Given the description of an element on the screen output the (x, y) to click on. 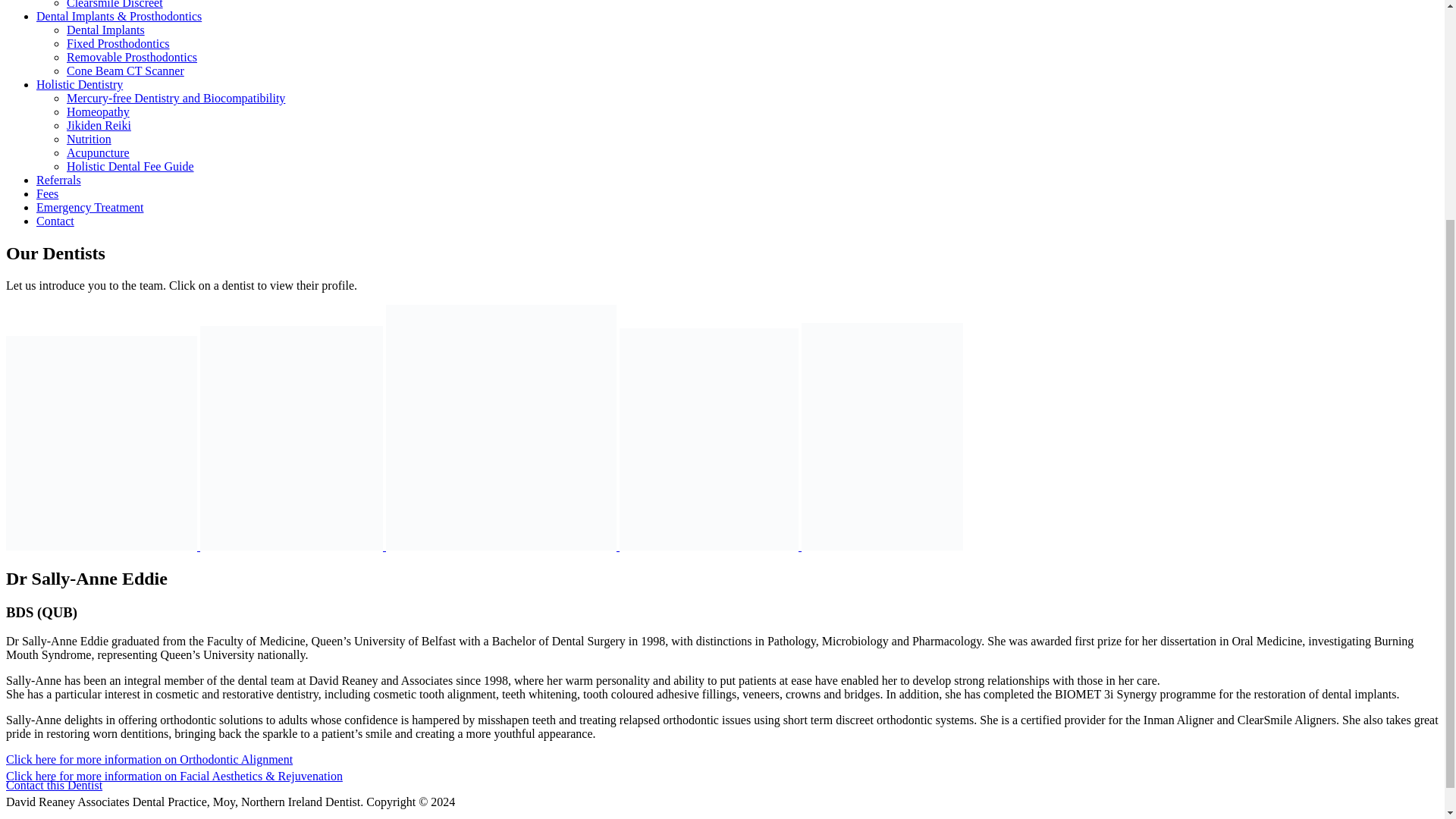
Cone Beam CT Scanner (125, 70)
Fees (47, 193)
Contact (55, 220)
Dr Anne Gooding (292, 545)
Homeopathy (97, 111)
Dr David Reaney (502, 545)
Emergency Treatment (89, 206)
Contact this Dentist (53, 784)
Holistic Dentistry (79, 83)
Clearsmile Discreet (114, 4)
